Given the description of an element on the screen output the (x, y) to click on. 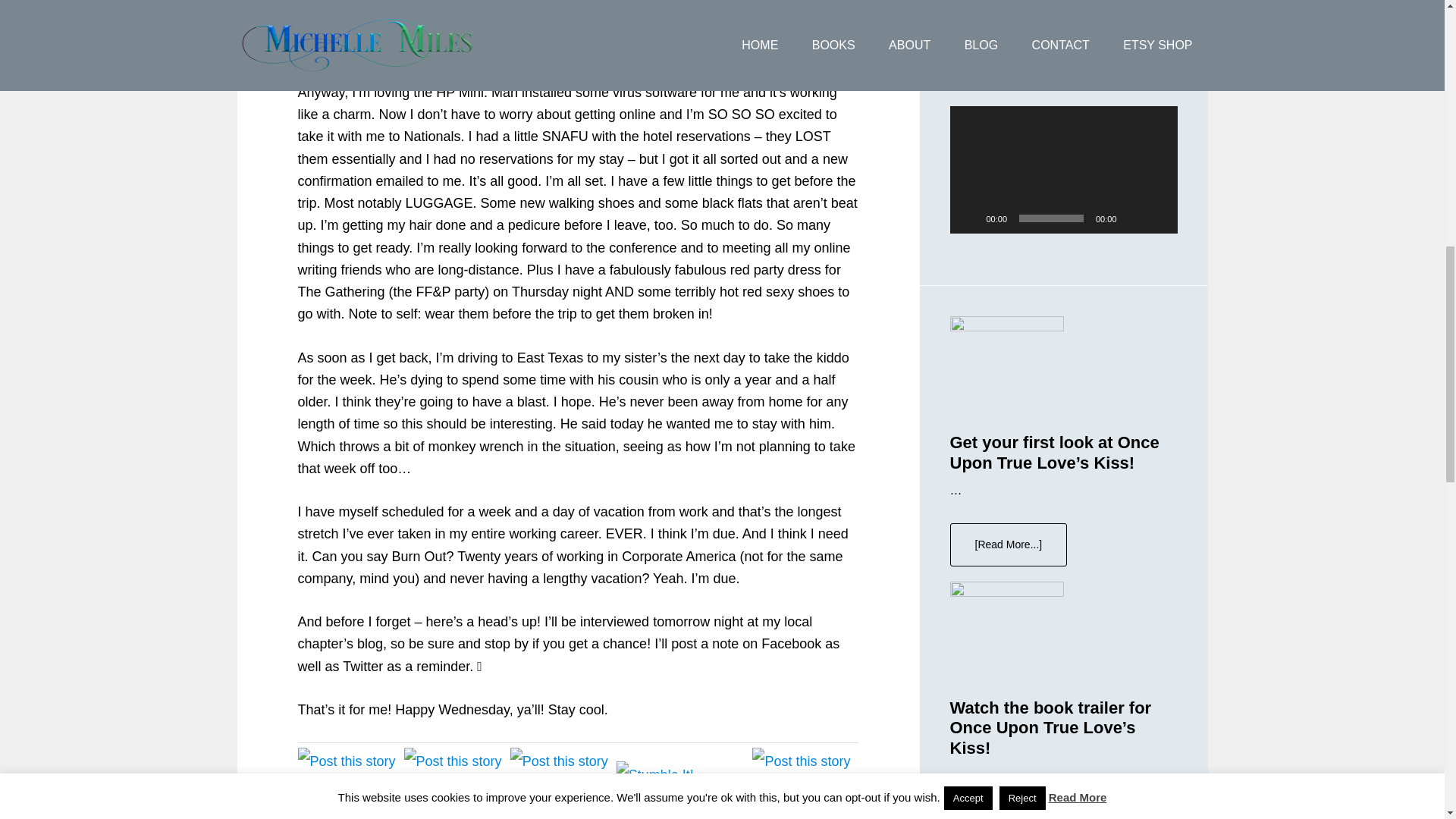
Facebook (457, 800)
Play (968, 218)
Del.icio.us (563, 800)
Reddit (350, 800)
Mute (1132, 218)
Digg (805, 800)
StumbleUpon (656, 788)
Fullscreen (1157, 218)
